Given the description of an element on the screen output the (x, y) to click on. 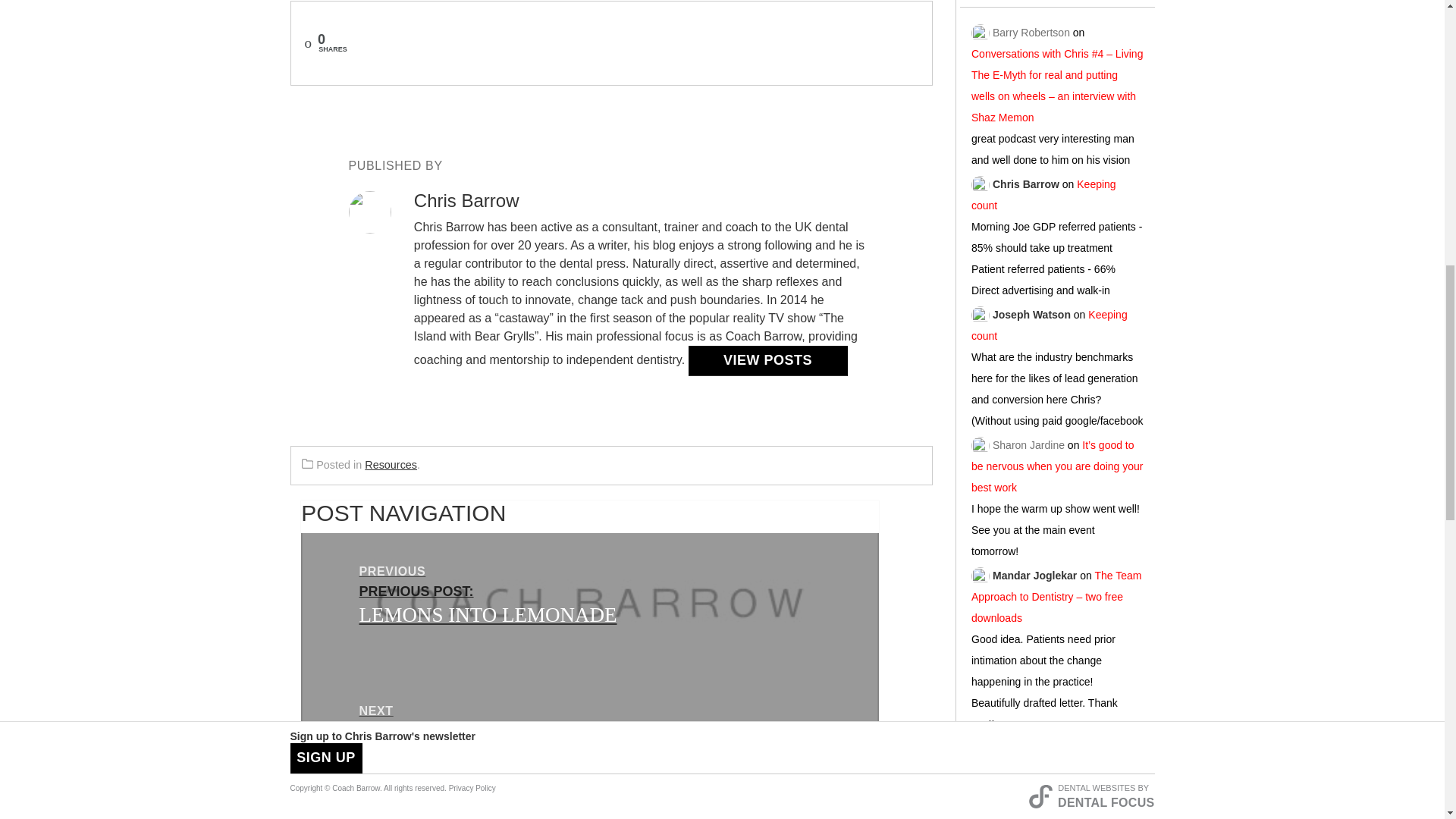
Keeping count (1043, 190)
Mandar Joglekar (1034, 571)
Resources (390, 464)
Keeping count (1048, 321)
Joseph Watson (1031, 311)
VIEW POSTS (767, 360)
Chris Barrow (1025, 180)
Advertising (1056, 808)
